Given the description of an element on the screen output the (x, y) to click on. 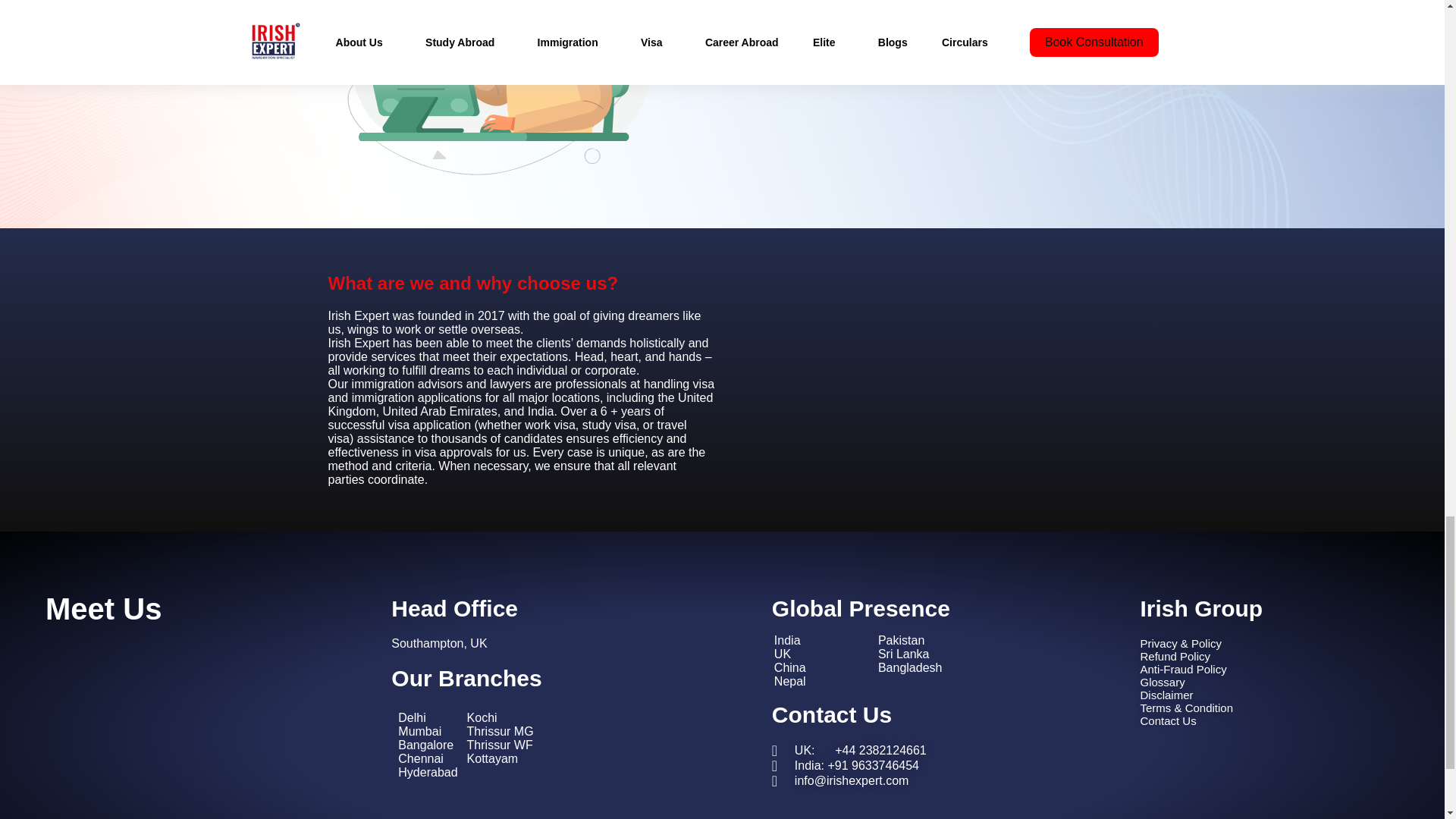
Hyderabad (427, 772)
Kottayam (500, 758)
Chennai (427, 758)
UK (823, 653)
Thrissur MG (500, 731)
Kochi (500, 717)
Sri Lanka (909, 653)
Delhi (427, 717)
Bangalore (427, 745)
Pakistan (909, 640)
